Given the description of an element on the screen output the (x, y) to click on. 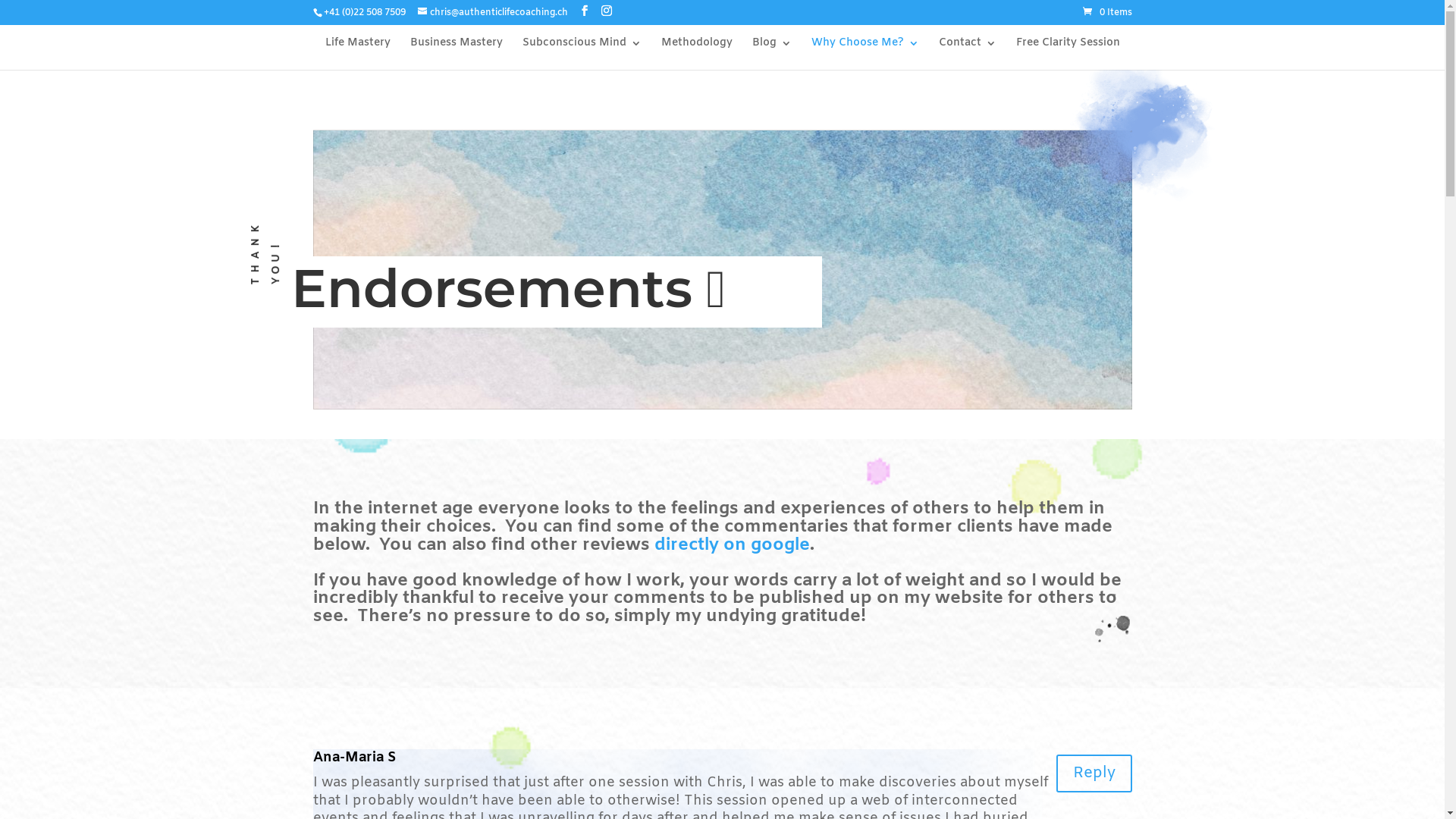
Contact Element type: text (967, 53)
Reply Element type: text (1093, 773)
Methodology Element type: text (696, 53)
Free Clarity Session Element type: text (1068, 53)
chris@authenticlifecoaching.ch Element type: text (492, 12)
calligraphy_baby blue Element type: hover (1141, 149)
Business Mastery Element type: text (455, 53)
0 Items Element type: text (1107, 12)
directly on google Element type: text (731, 544)
Life Mastery Element type: text (356, 53)
Subconscious Mind Element type: text (580, 53)
Blog Element type: text (771, 53)
Why Choose Me? Element type: text (865, 53)
